Given the description of an element on the screen output the (x, y) to click on. 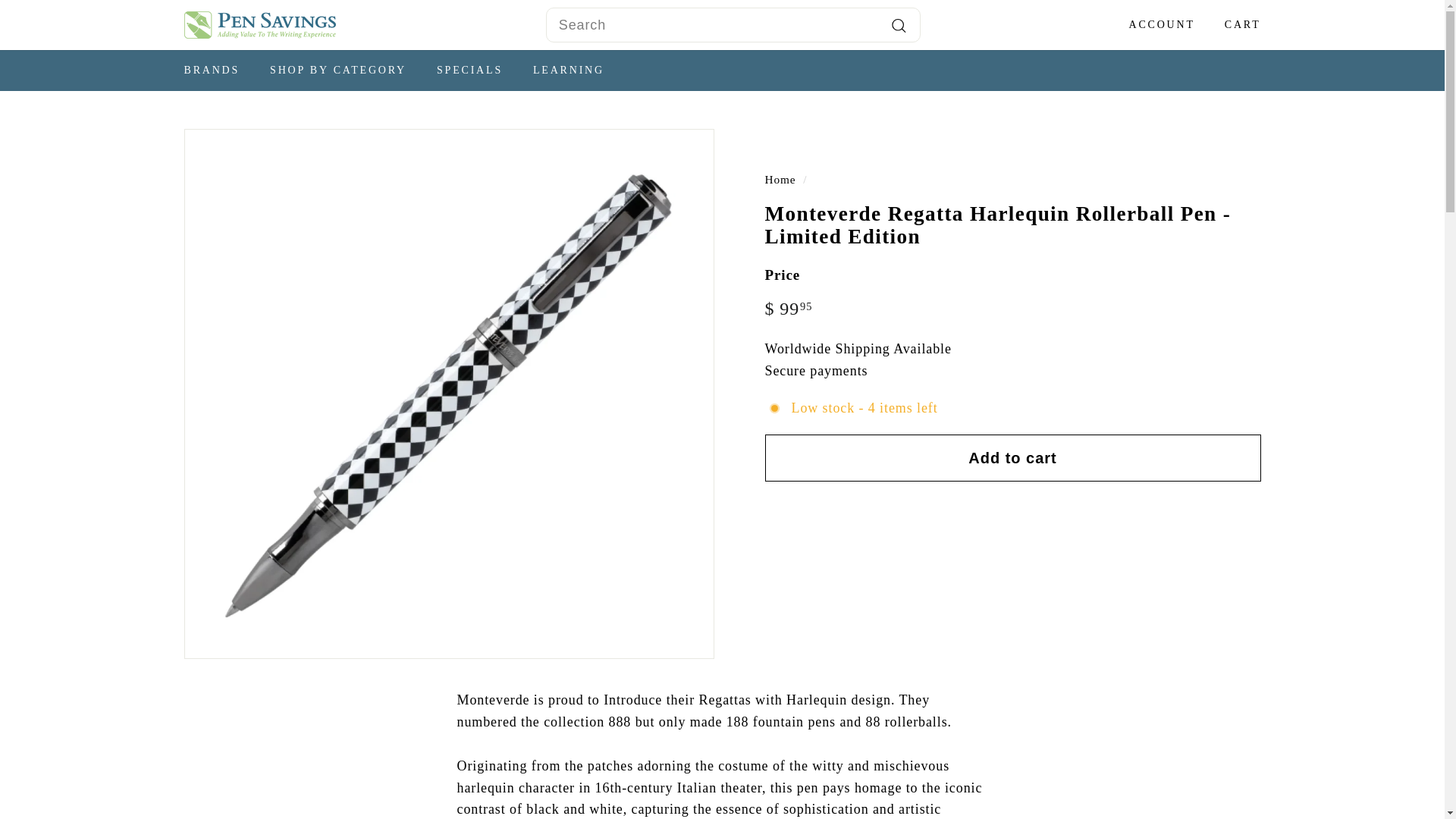
CART (1236, 24)
ACCOUNT (1156, 24)
Back to the frontpage (779, 178)
